Given the description of an element on the screen output the (x, y) to click on. 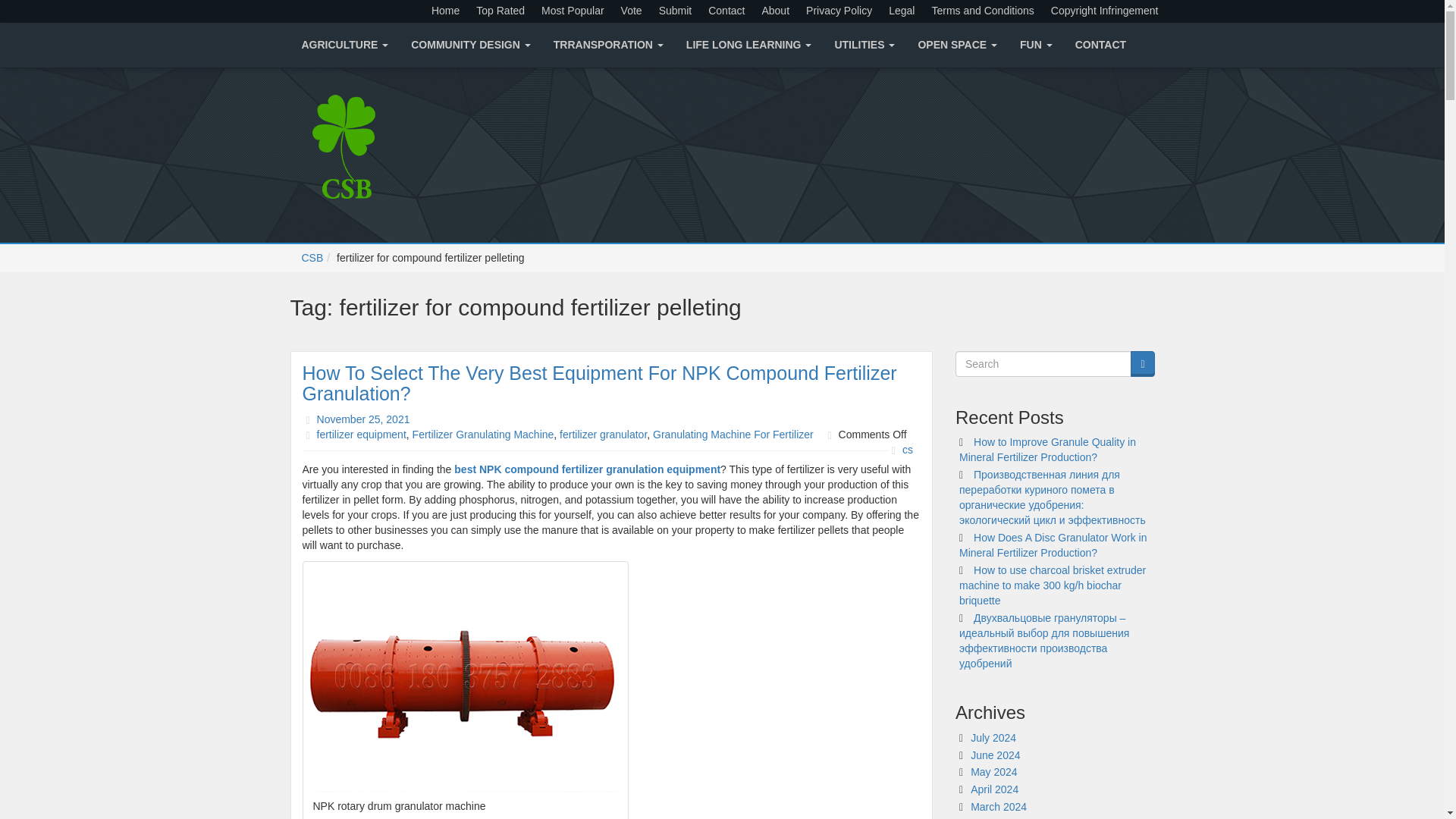
Privacy Policy (838, 11)
Top Rated (500, 11)
Most Popular (572, 11)
Copyright Infringement (1104, 11)
Legal (900, 11)
LIFE LONG LEARNING (749, 44)
TRRANSPORATION (608, 44)
Terms and Conditions (982, 11)
AGRICULTURE (343, 44)
COMMUNITY DESIGN (469, 44)
UTILITIES (863, 44)
Home (445, 11)
About (775, 11)
Submit (675, 11)
Contact (726, 11)
